Given the description of an element on the screen output the (x, y) to click on. 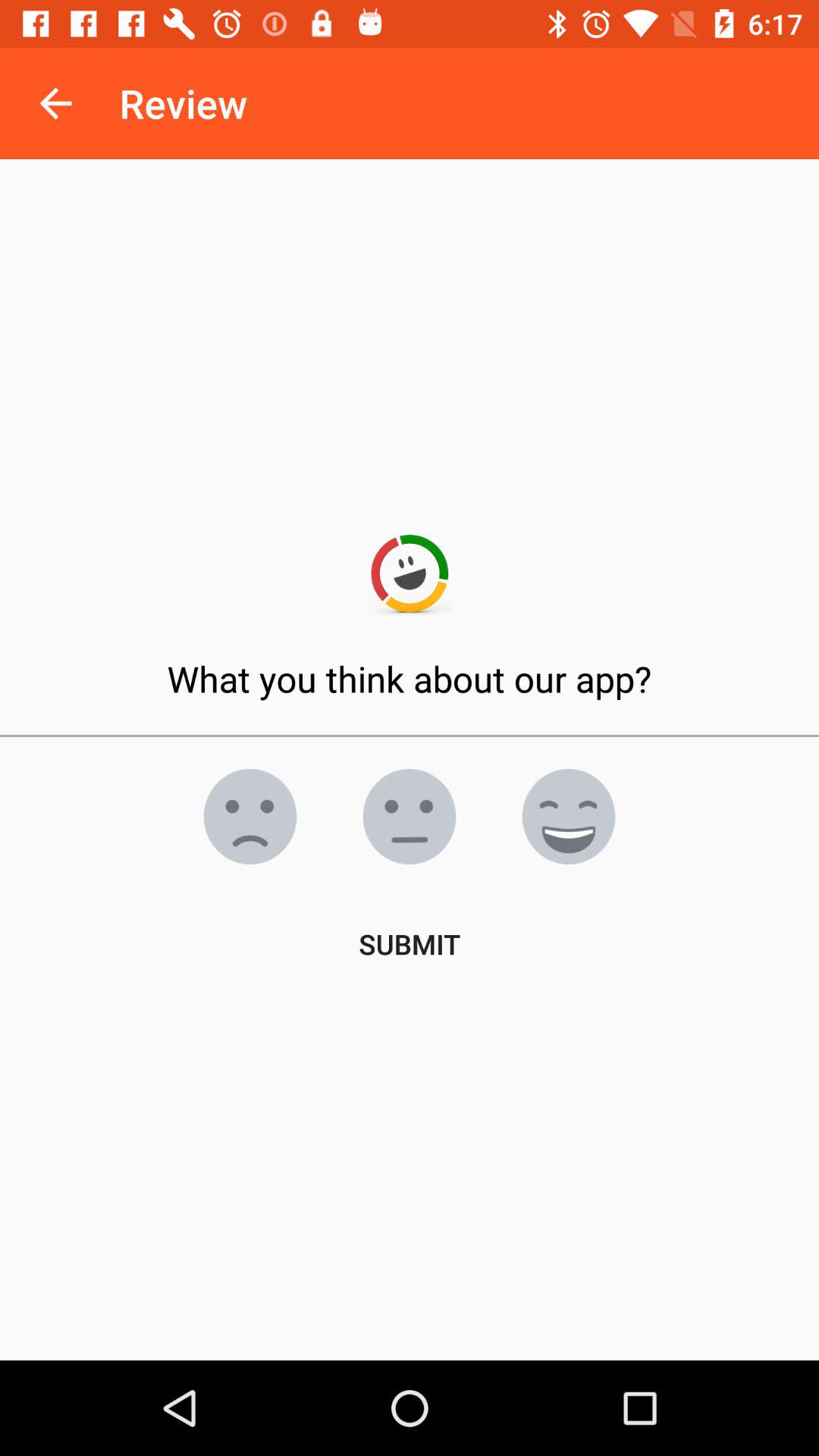
neutral (409, 816)
